Given the description of an element on the screen output the (x, y) to click on. 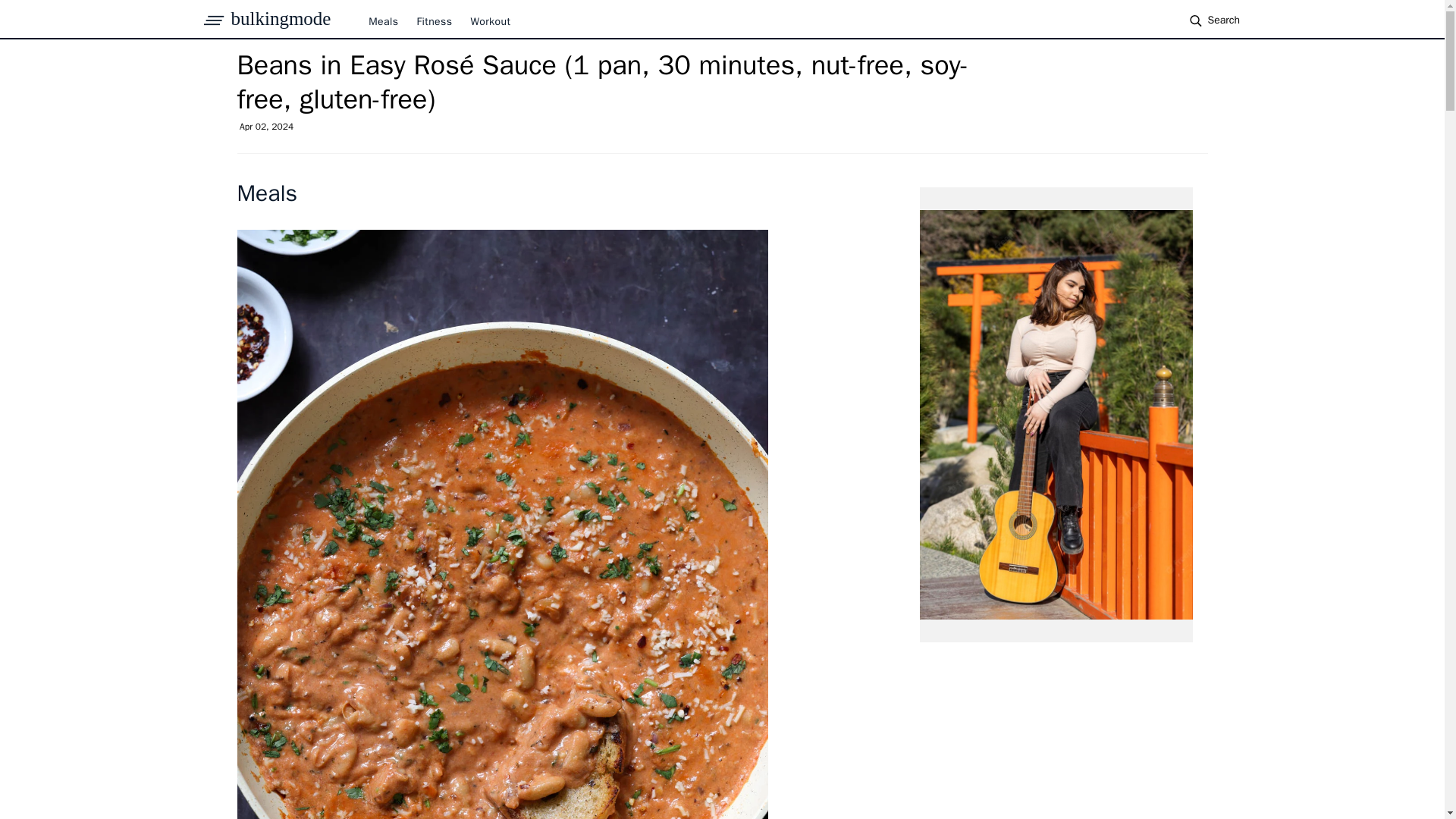
Meals (266, 193)
bulkingmode (280, 18)
Fitness (433, 21)
Meals (382, 21)
Workout (490, 21)
sprite-hamburger (213, 16)
